Given the description of an element on the screen output the (x, y) to click on. 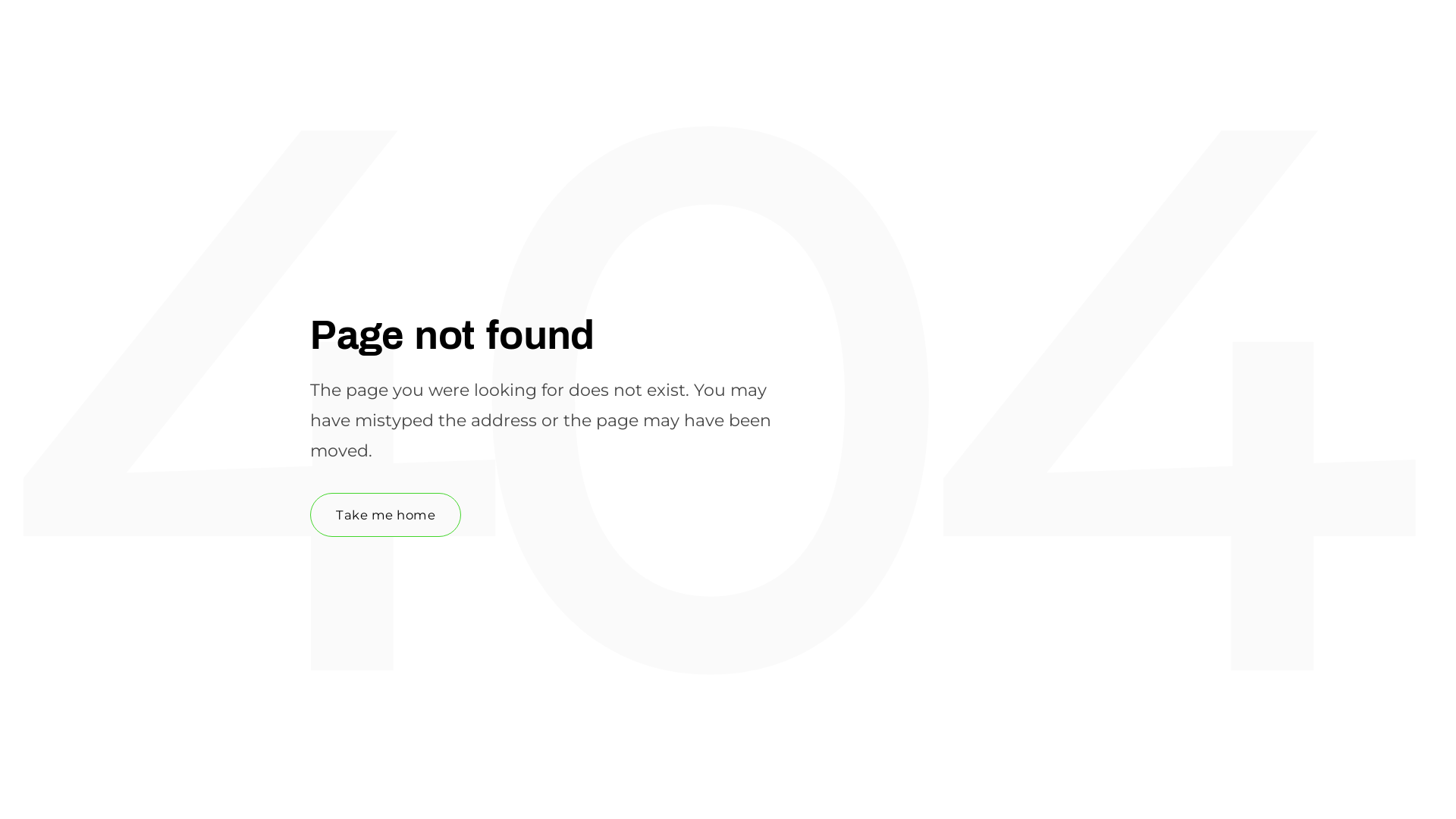
Take me home Element type: text (385, 514)
